Given the description of an element on the screen output the (x, y) to click on. 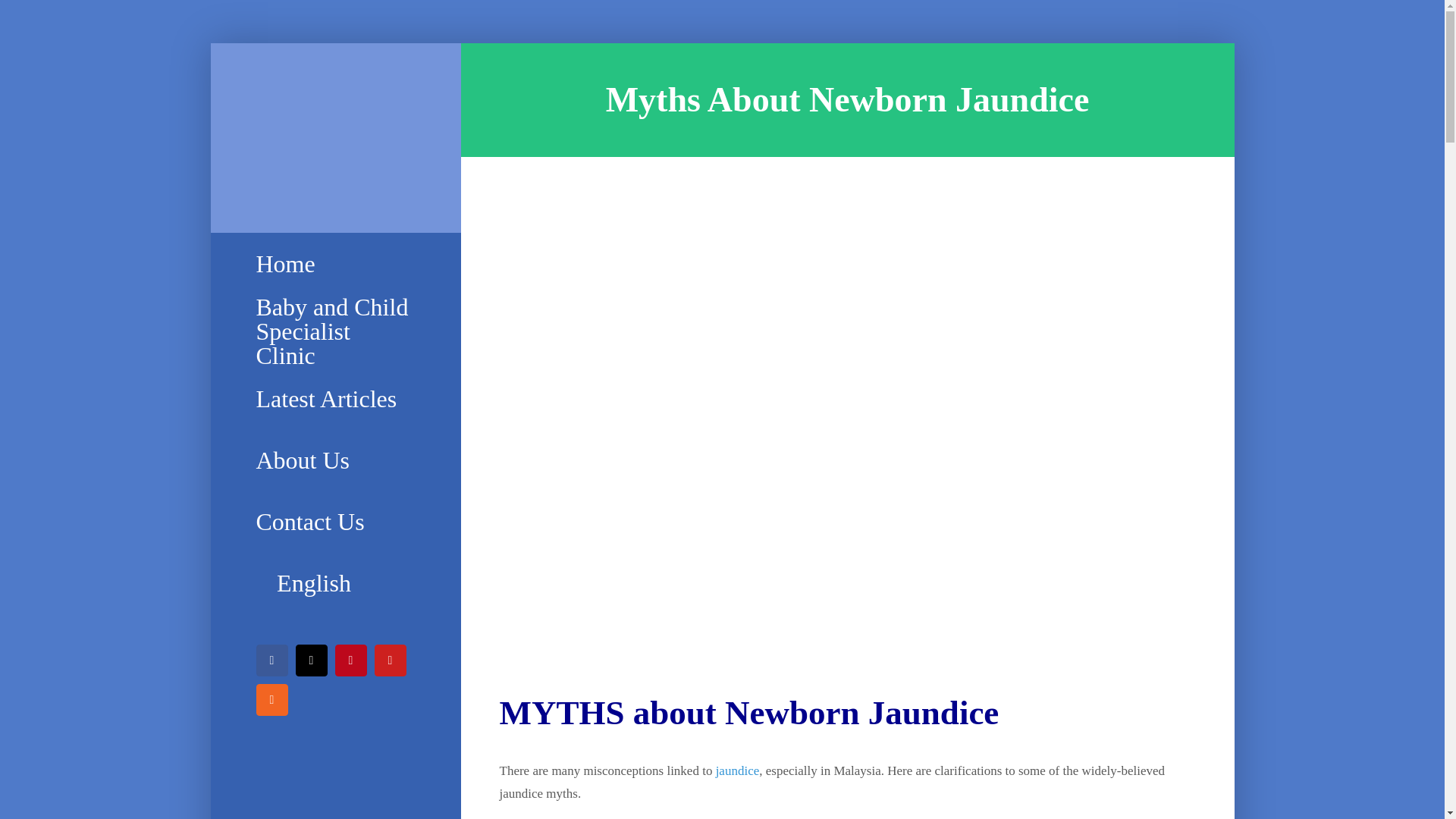
jaundice (738, 770)
Facebook (272, 660)
Contact Us (335, 521)
Latest Articles (335, 398)
Rss (272, 699)
English (335, 583)
Email (311, 660)
About Us (335, 460)
YouTube (390, 660)
English (335, 583)
